Given the description of an element on the screen output the (x, y) to click on. 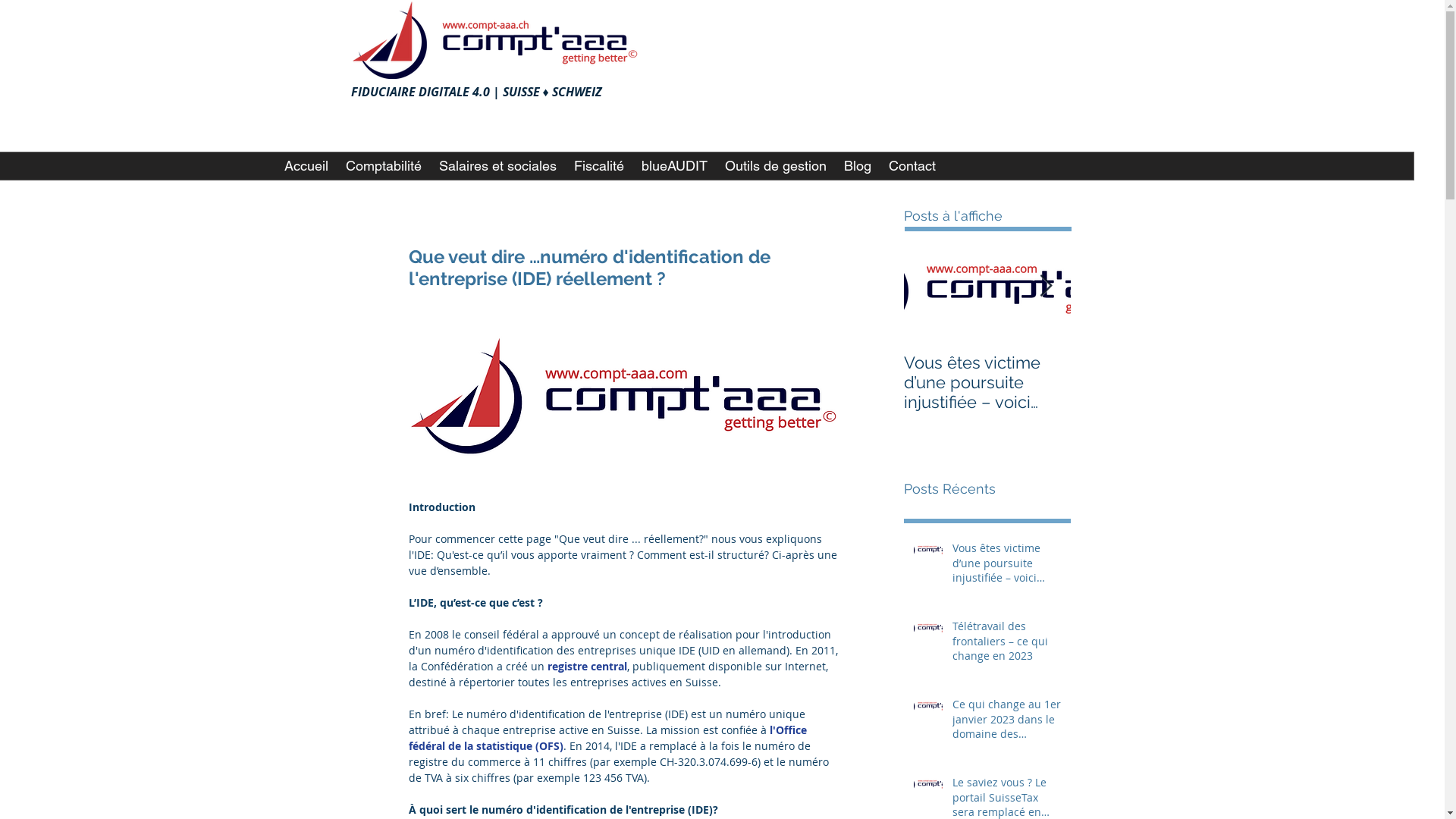
Blog Element type: text (856, 165)
FIDUCIAIRE DIGITALE 4.0 |  Element type: text (426, 91)
registre central Element type: text (587, 665)
Outils de gestion Element type: text (774, 165)
Salaires et sociales Element type: text (496, 165)
Accueil Element type: text (304, 165)
Contact Element type: text (911, 165)
blueAUDIT Element type: text (673, 165)
